Given the description of an element on the screen output the (x, y) to click on. 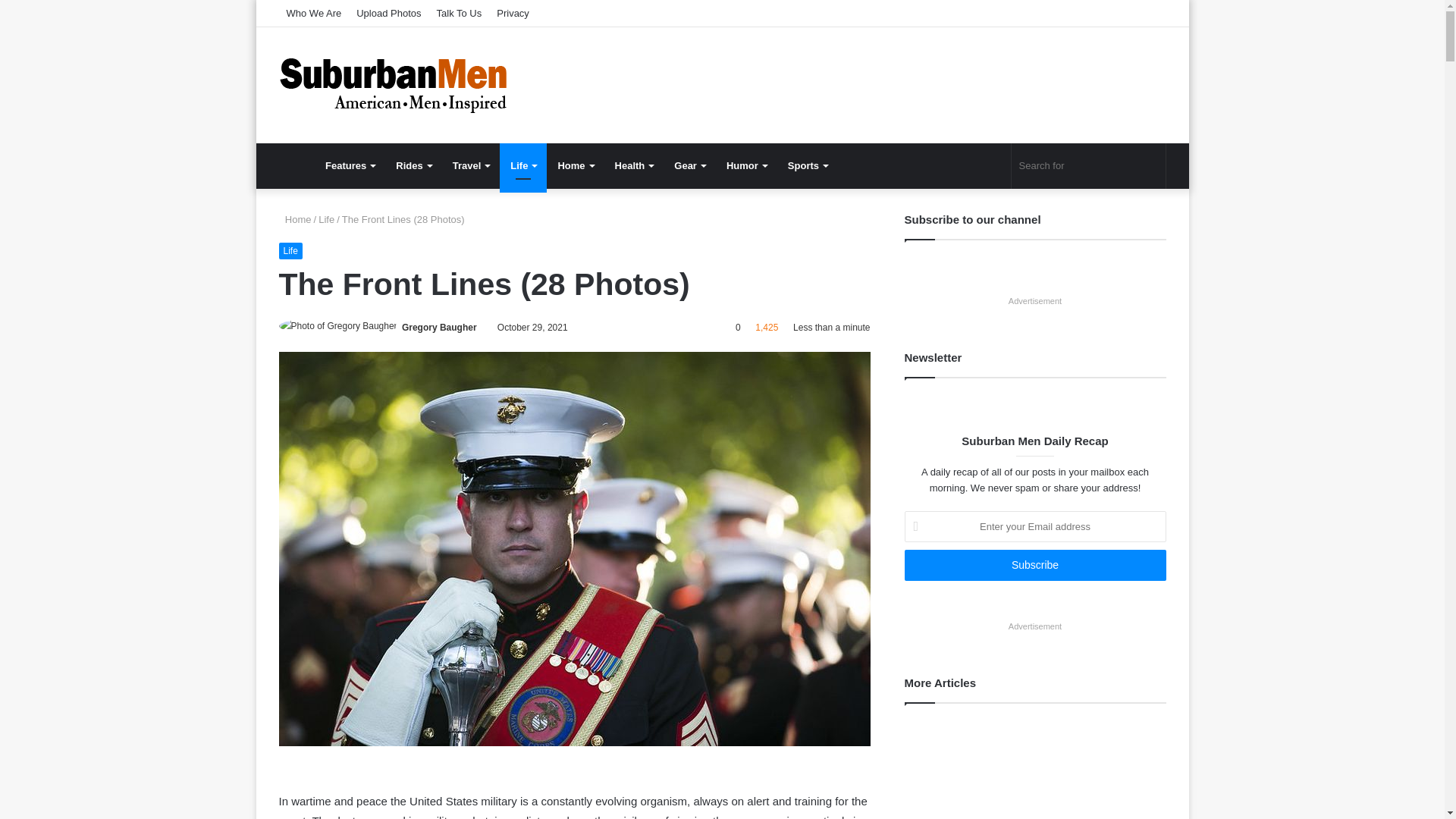
Privacy (513, 13)
Rides (413, 166)
Sports (807, 166)
Life (290, 250)
Subscribe (1035, 564)
Talk To Us (459, 13)
Gear (689, 166)
Humor (746, 166)
Travel (471, 166)
Suburban Men (392, 85)
Features (349, 166)
Home (295, 219)
Upload Photos (388, 13)
Search for (1088, 166)
Gregory Baugher (439, 327)
